Given the description of an element on the screen output the (x, y) to click on. 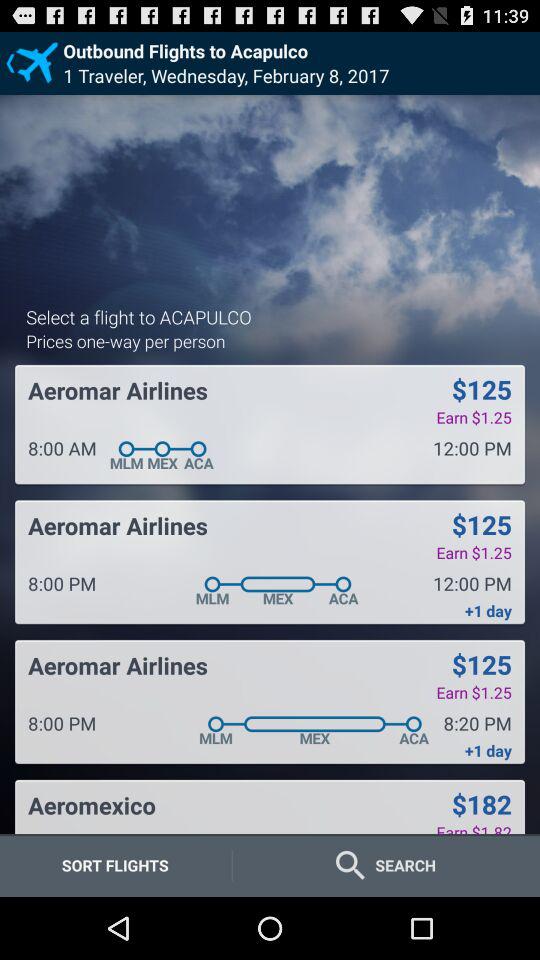
tap icon below 8:00 pm (92, 805)
